Given the description of an element on the screen output the (x, y) to click on. 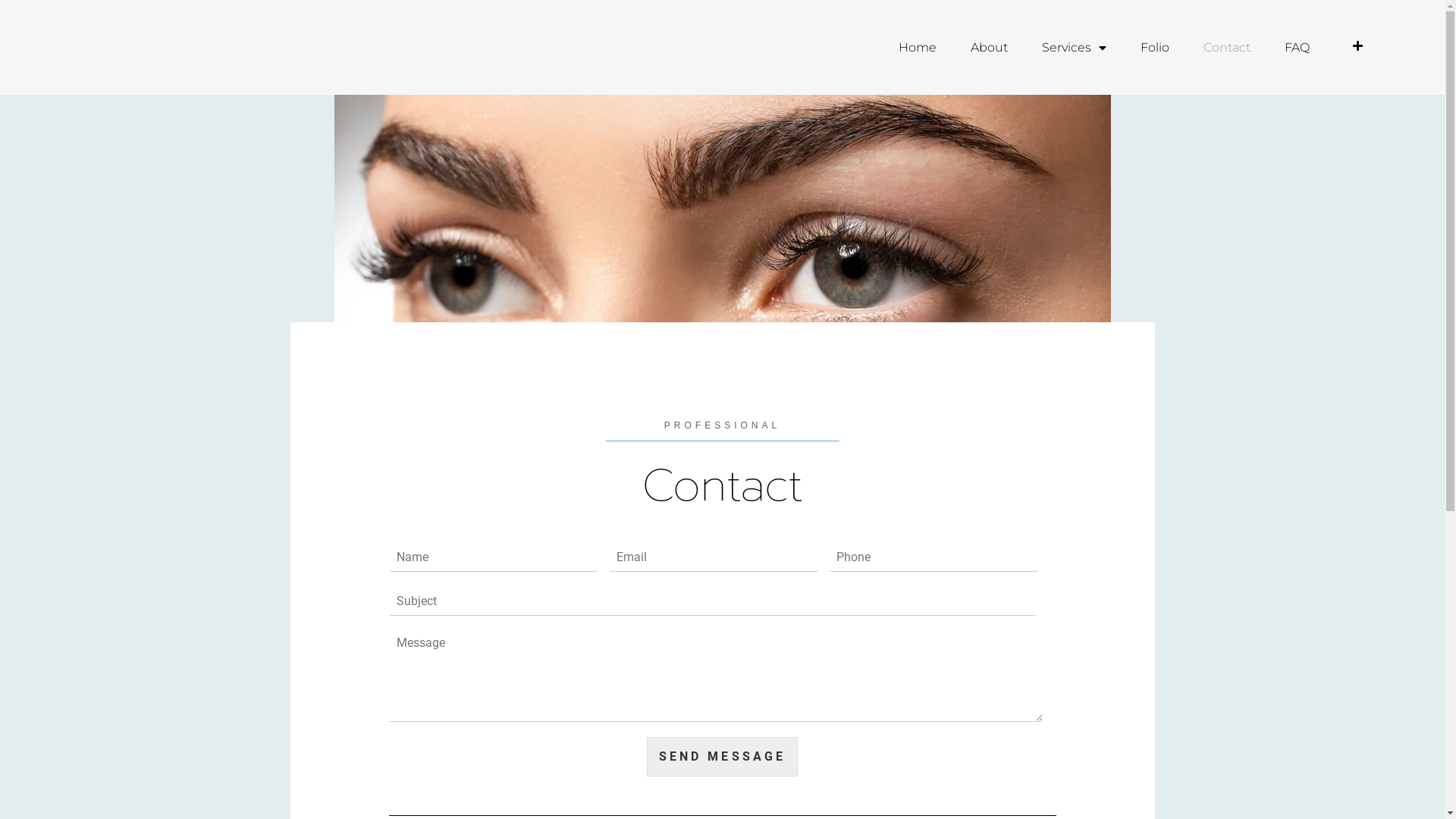
SEND MESSAGE Element type: text (721, 756)
FAQ Element type: text (1296, 47)
About Element type: text (988, 47)
Folio Element type: text (1154, 47)
Home Element type: text (917, 47)
Contact Element type: text (1226, 47)
Services Element type: text (1073, 47)
